Given the description of an element on the screen output the (x, y) to click on. 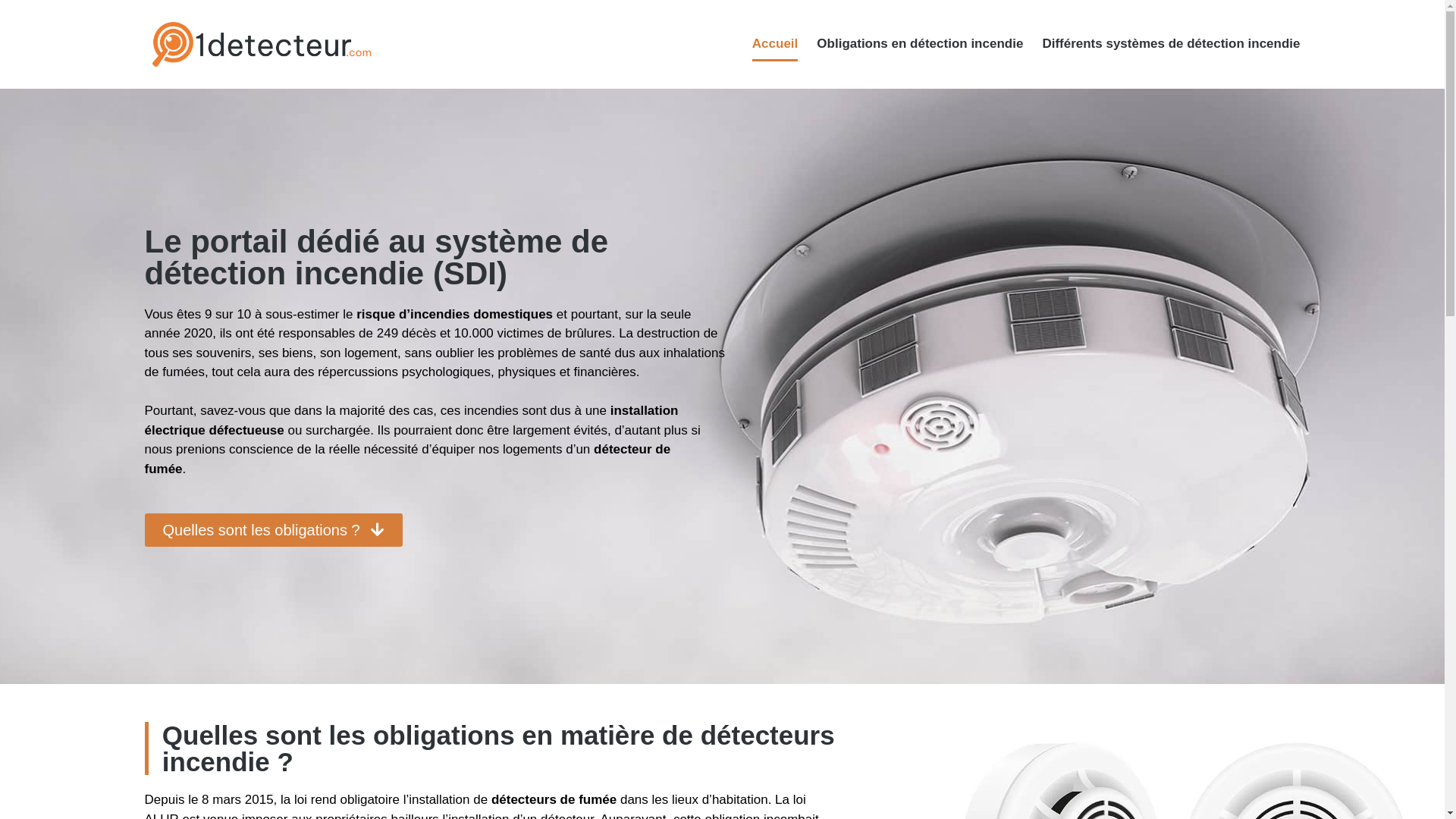
Quelles sont les obligations ? Element type: text (272, 529)
Accueil Element type: text (774, 43)
